Given the description of an element on the screen output the (x, y) to click on. 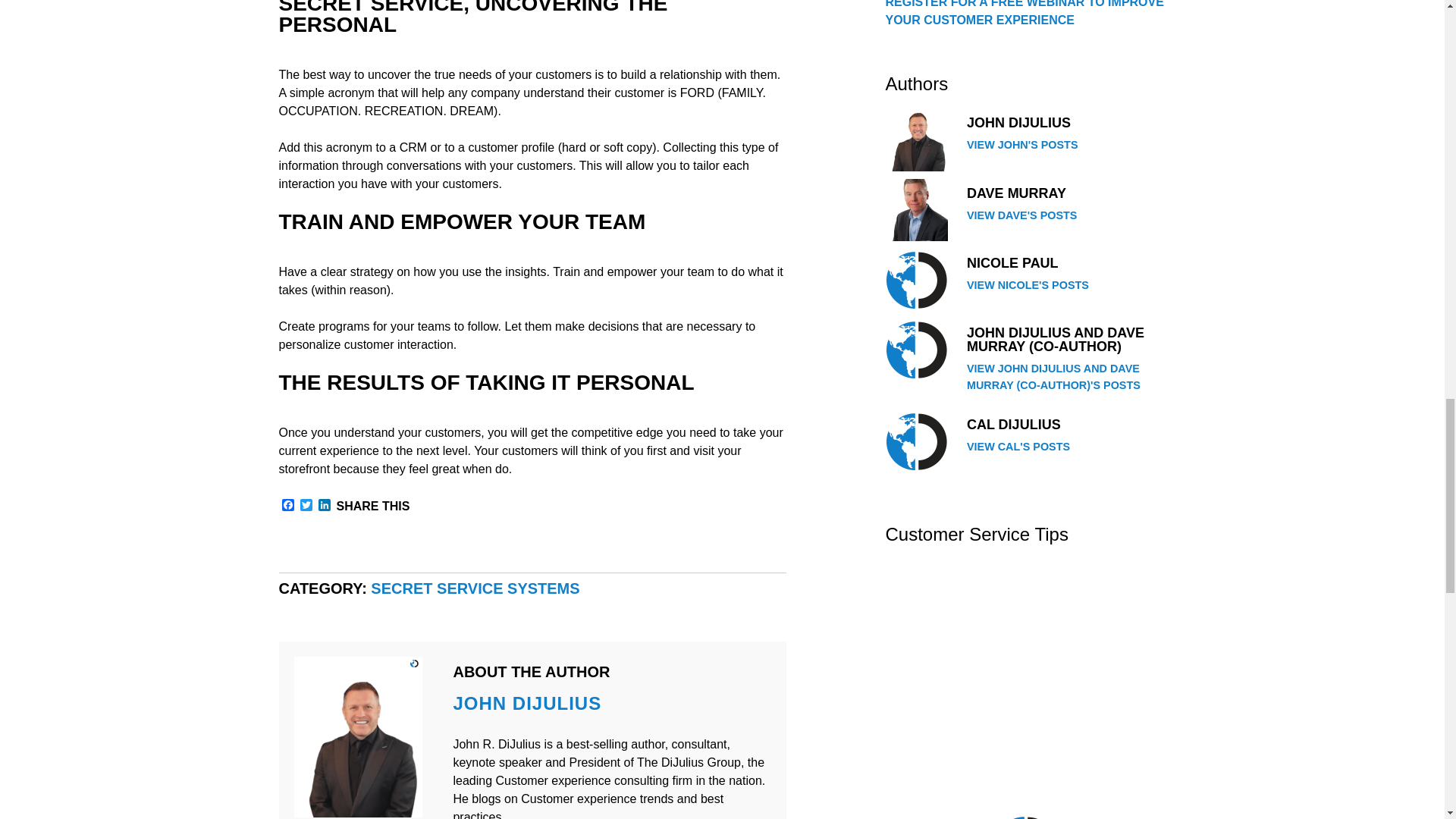
LinkedIn (324, 505)
Facebook (288, 505)
Gravatar for John DiJulius (916, 441)
LINKEDIN (324, 505)
Twitter (306, 505)
FACEBOOK (288, 505)
Gravatar for John DiJulius (916, 349)
Gravatar for John DiJulius (916, 279)
TWITTER (306, 505)
